Given the description of an element on the screen output the (x, y) to click on. 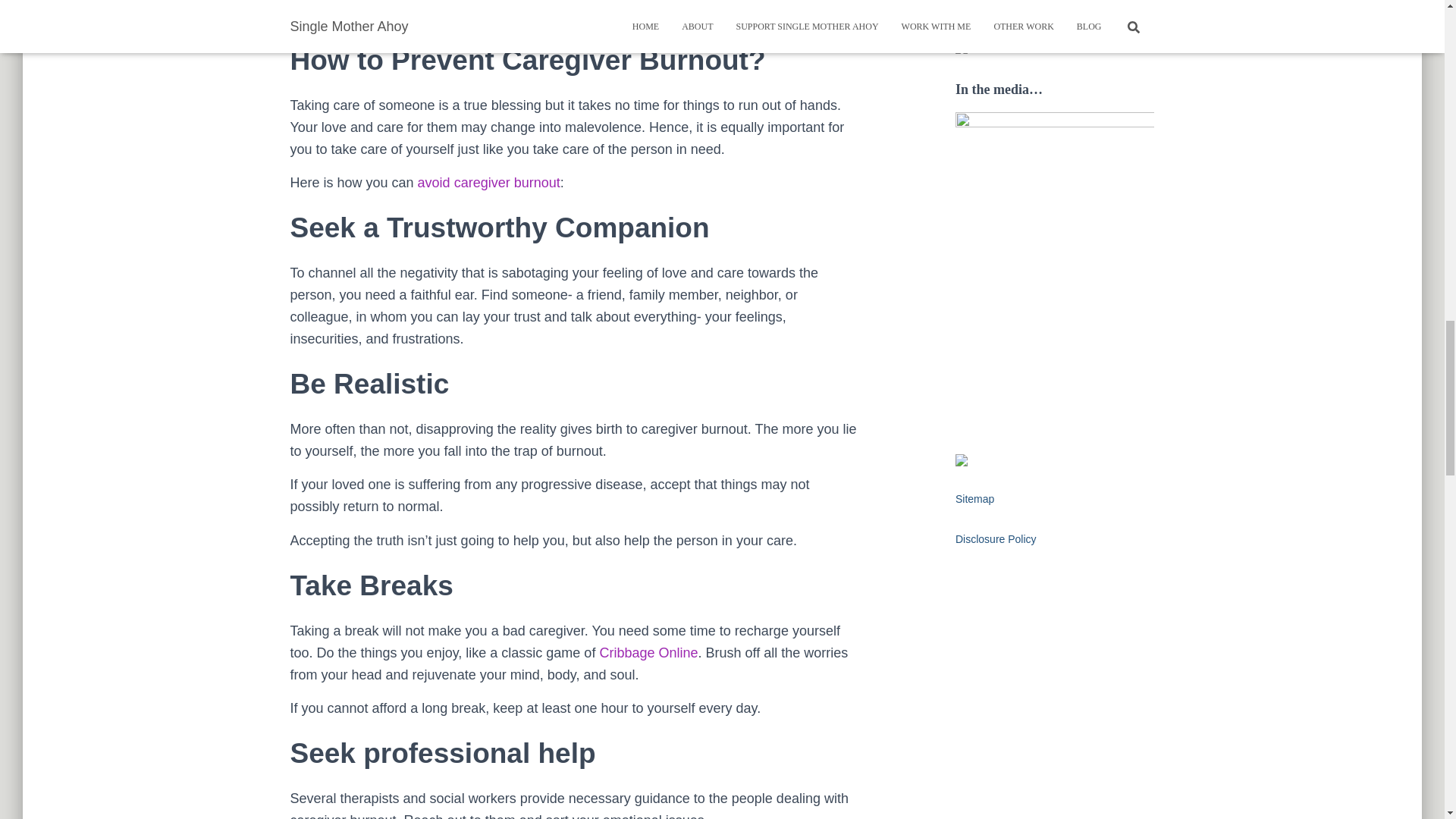
Cribbage Online (647, 652)
avoid caregiver burnout (488, 182)
